Given the description of an element on the screen output the (x, y) to click on. 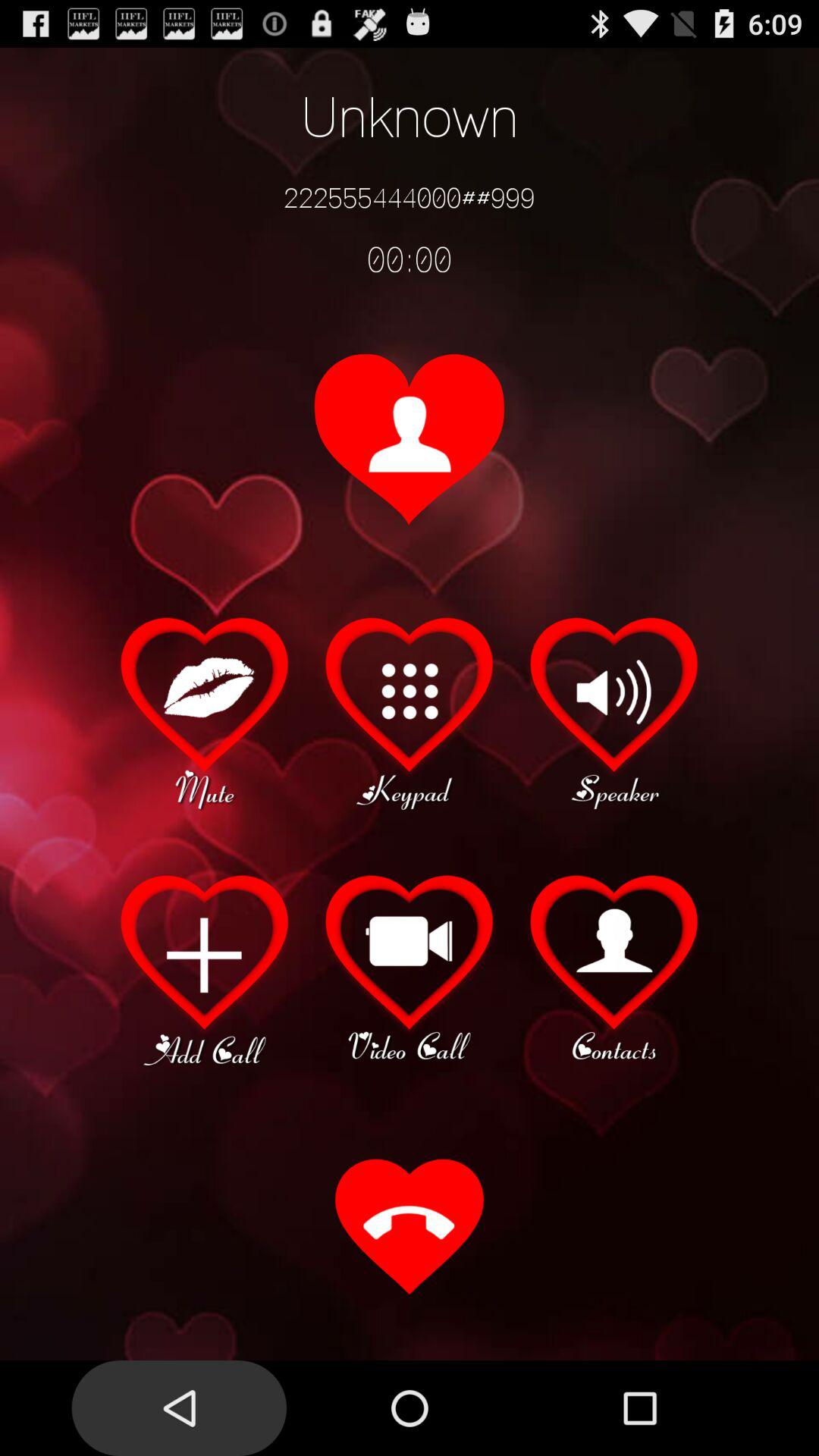
turn off the item at the bottom (409, 1228)
